Given the description of an element on the screen output the (x, y) to click on. 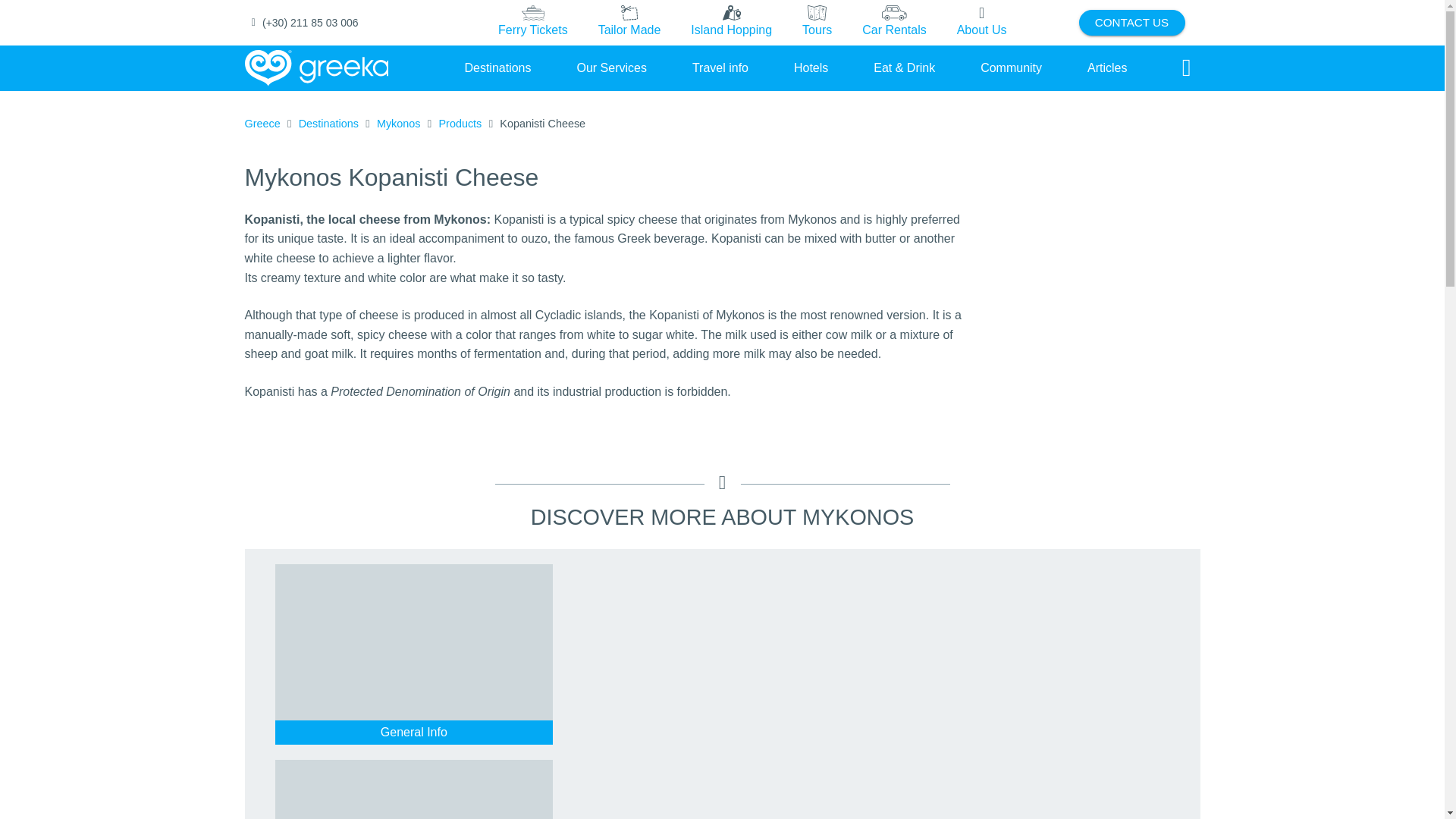
General Info (414, 732)
Greece by Greeka (316, 67)
Greece (261, 123)
Kopanisti Cheese (542, 123)
Blog (1106, 67)
Travel info (720, 67)
Hotels (810, 67)
Car rentals (893, 22)
Island hopping (731, 22)
Articles (1106, 67)
